Given the description of an element on the screen output the (x, y) to click on. 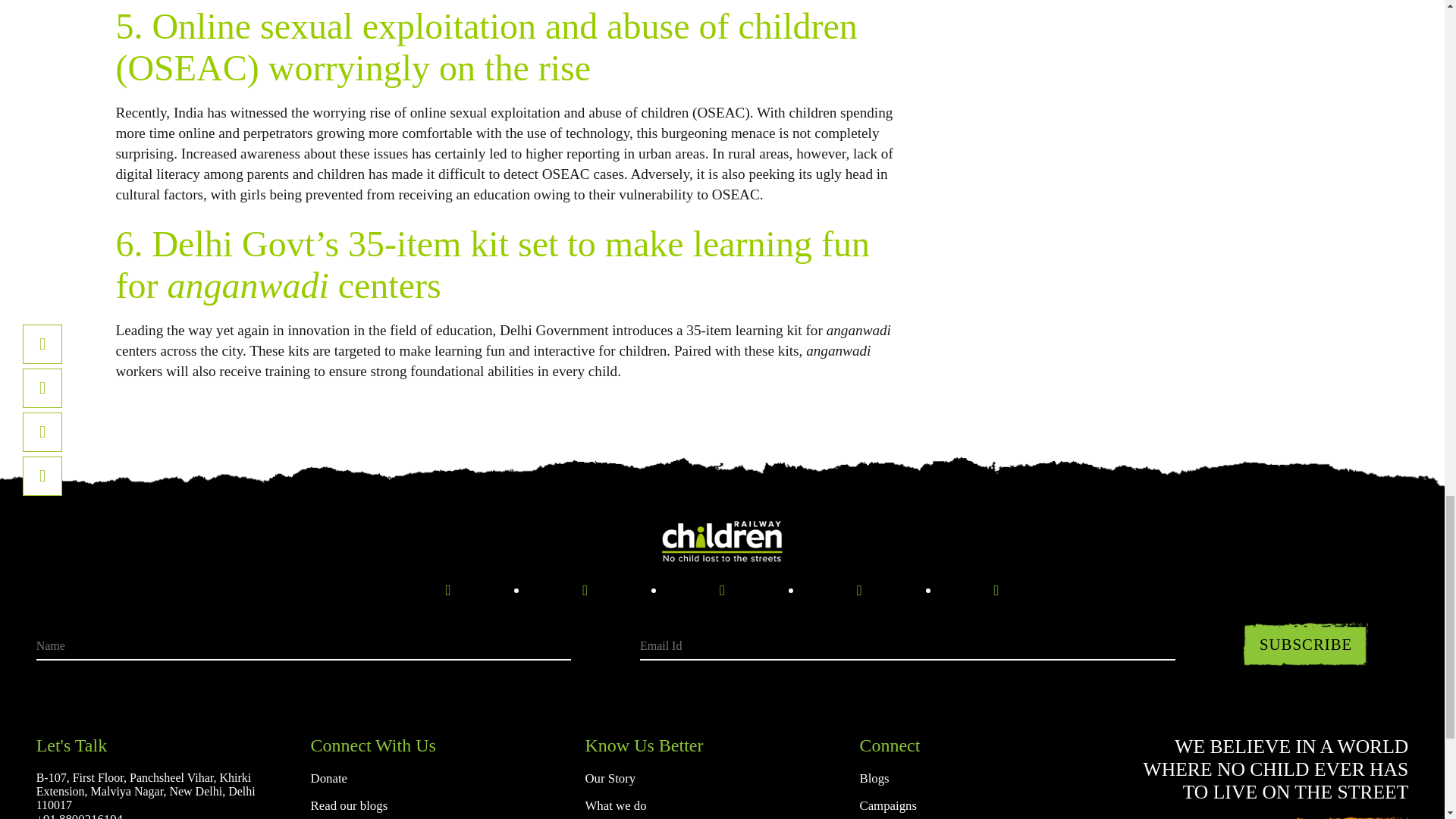
Subscribe (1305, 643)
